Given the description of an element on the screen output the (x, y) to click on. 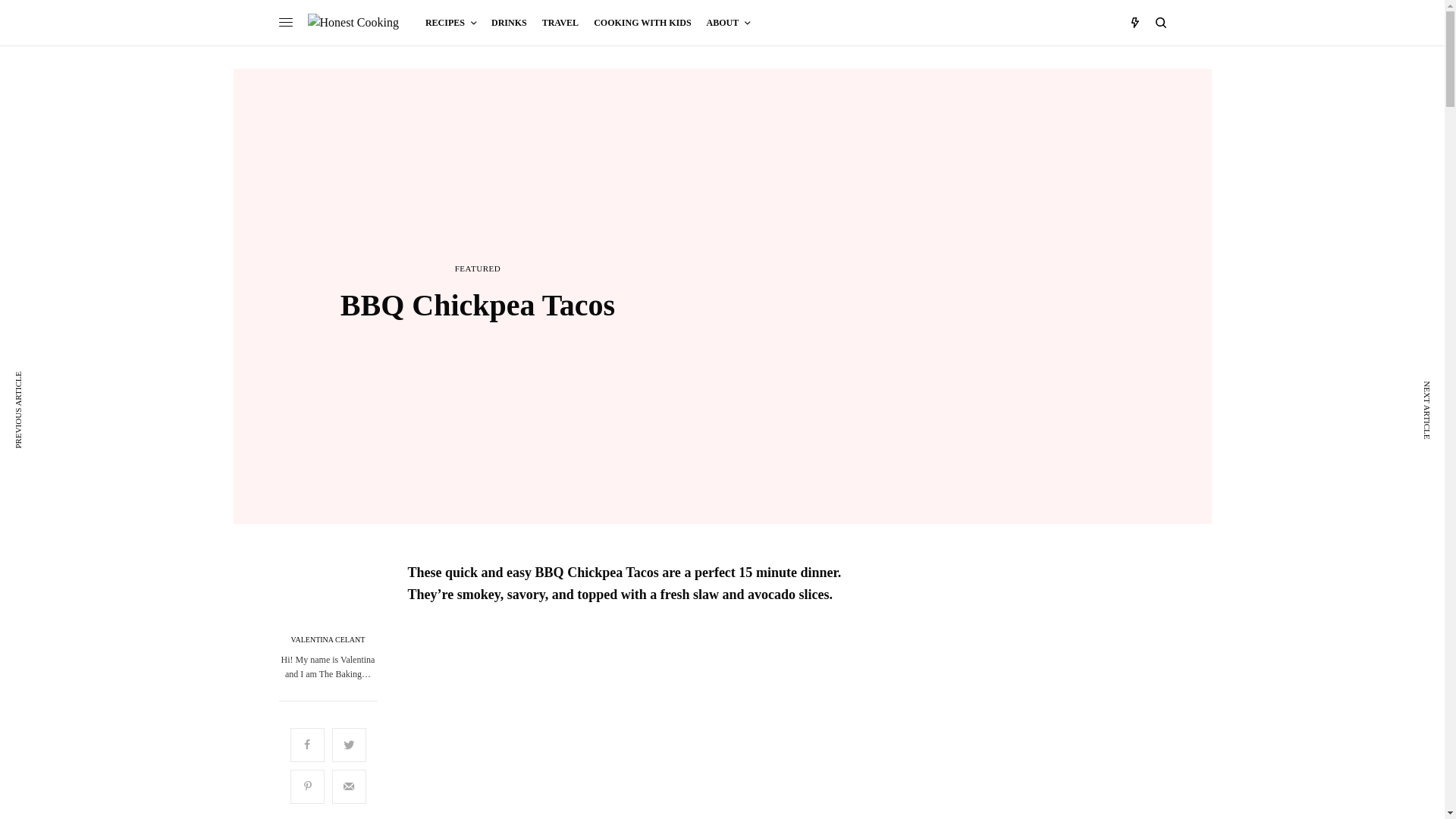
VALENTINA CELANT (328, 639)
Honest Cooking (352, 22)
COOKING WITH KIDS (642, 22)
ABOUT (728, 22)
FEATURED (477, 268)
RECIPES (450, 22)
